Given the description of an element on the screen output the (x, y) to click on. 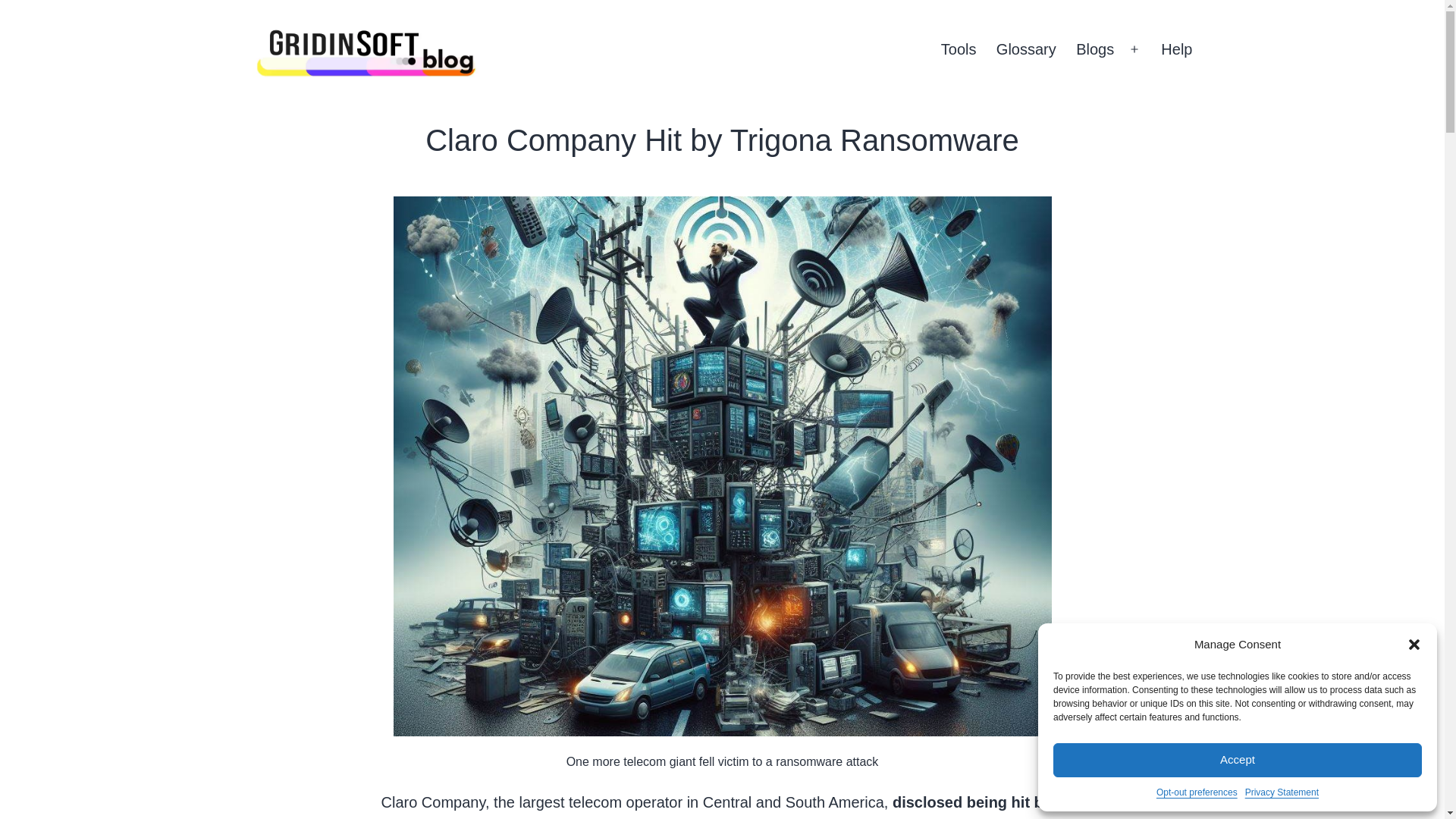
Tools (959, 48)
Help (1176, 48)
Glossary (1026, 48)
Privacy Statement (1281, 792)
Gridinsoft Blog (284, 105)
Accept (1237, 759)
Opt-out preferences (1196, 792)
Blogs (1094, 48)
